Given the description of an element on the screen output the (x, y) to click on. 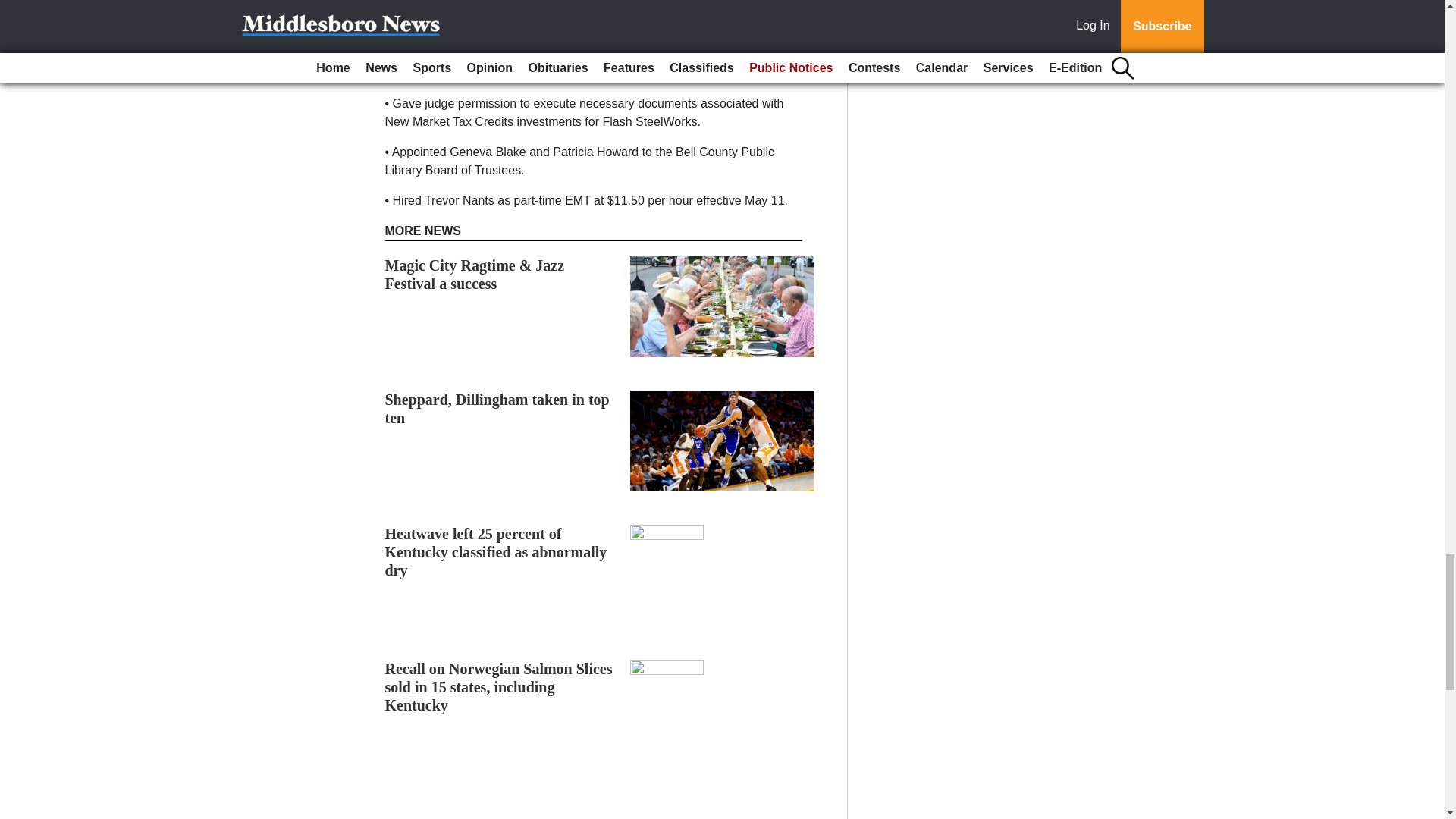
Sheppard, Dillingham taken in top ten (497, 408)
Sheppard, Dillingham taken in top ten (497, 408)
